Given the description of an element on the screen output the (x, y) to click on. 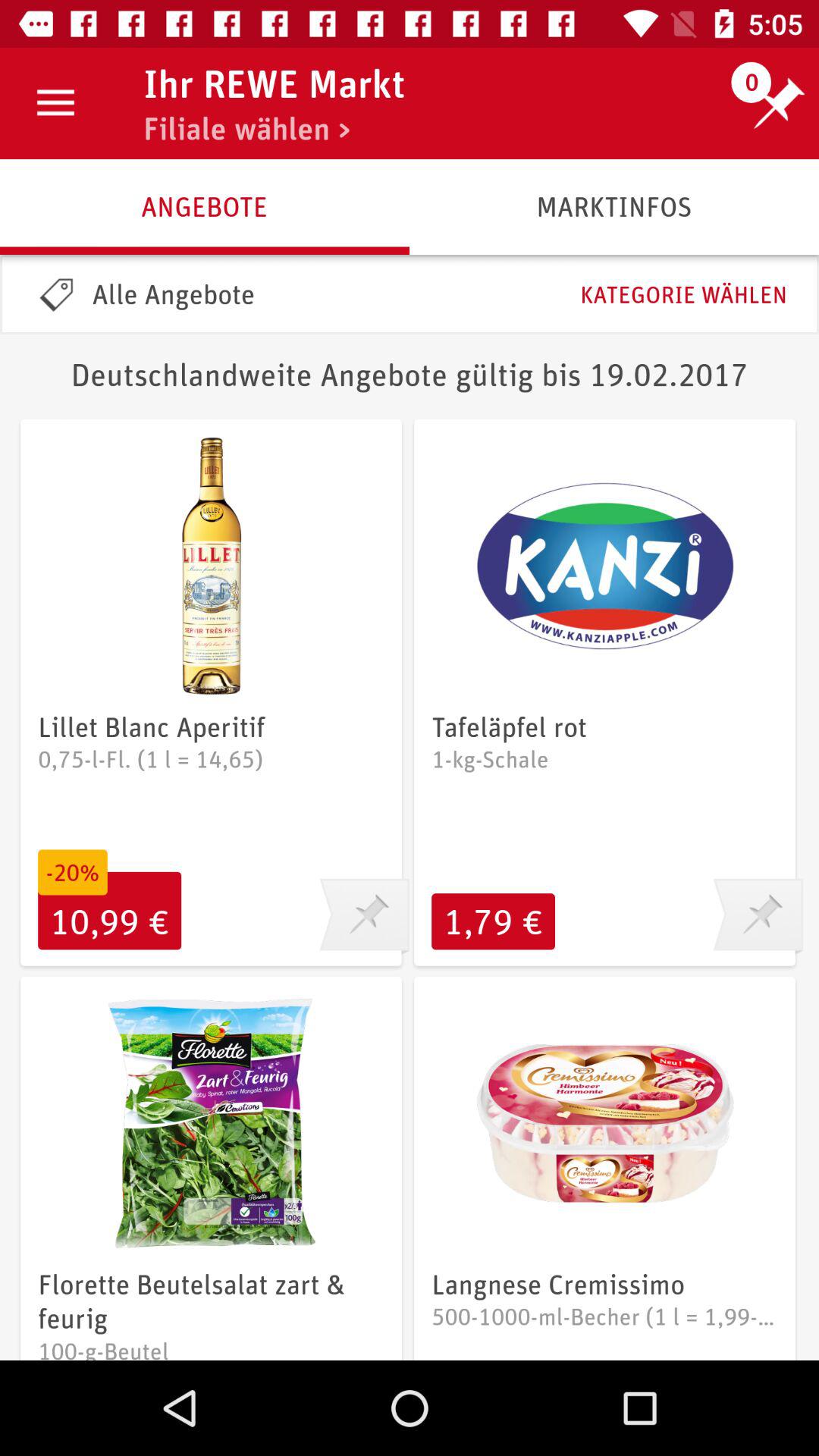
click icon to the left of 0 item (273, 83)
